Given the description of an element on the screen output the (x, y) to click on. 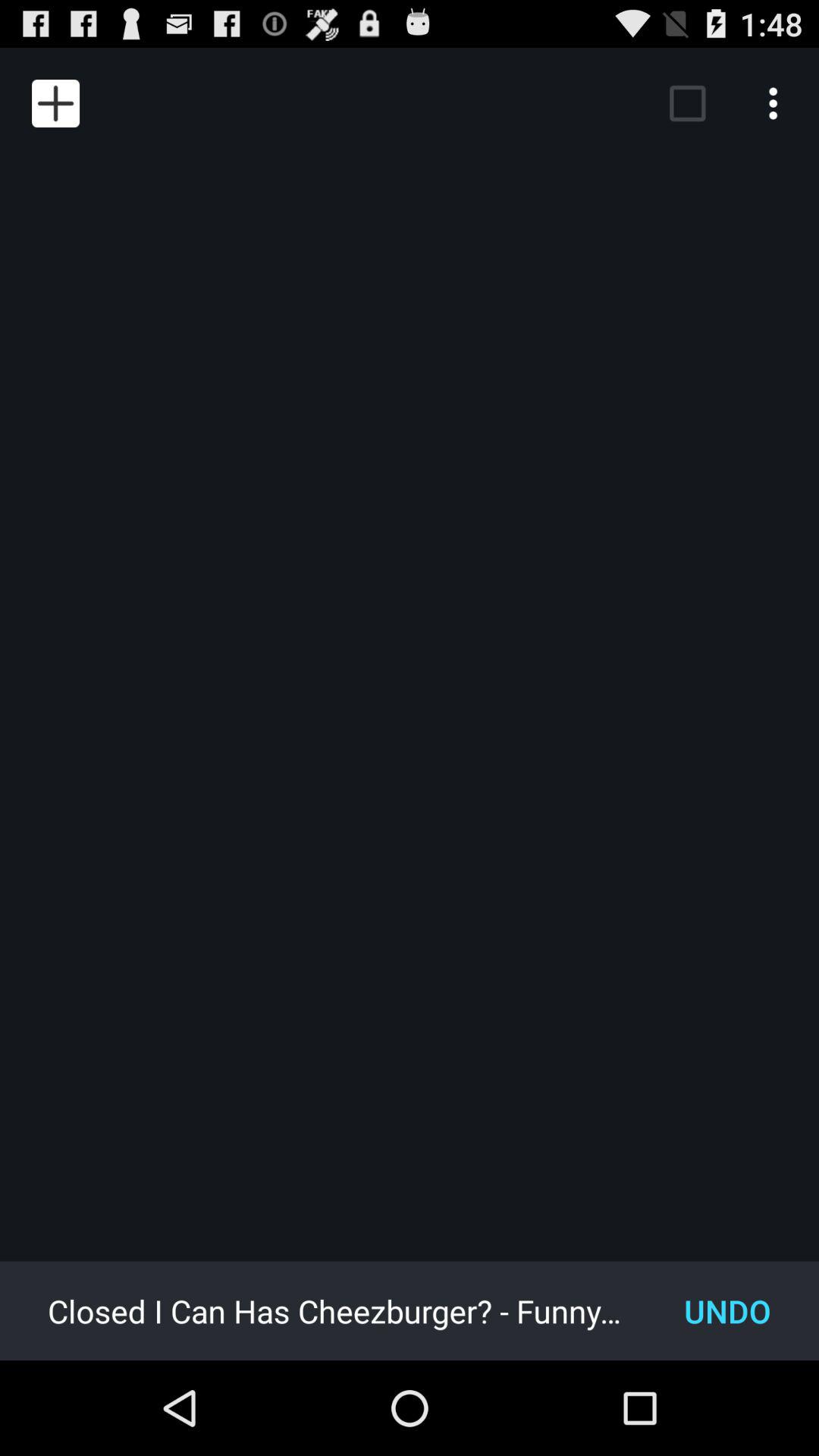
click the icon above the undo icon (777, 103)
